Given the description of an element on the screen output the (x, y) to click on. 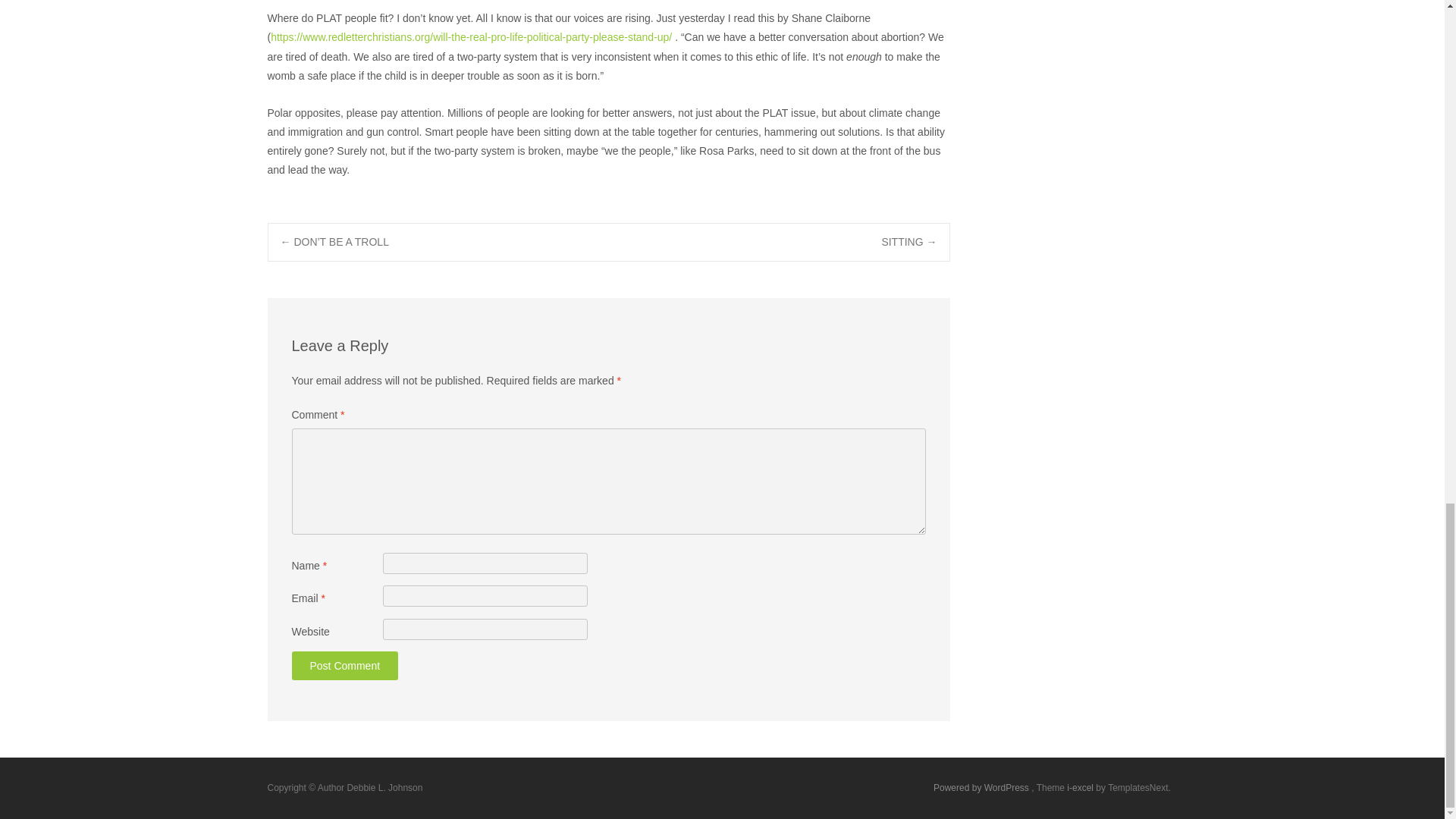
Post Comment (344, 665)
Powered by WordPress (981, 787)
Multipurpose Business WooCommerce Theme (1081, 787)
i-excel (1081, 787)
Post Comment (344, 665)
Semantic Personal Publishing Platform (981, 787)
